Given the description of an element on the screen output the (x, y) to click on. 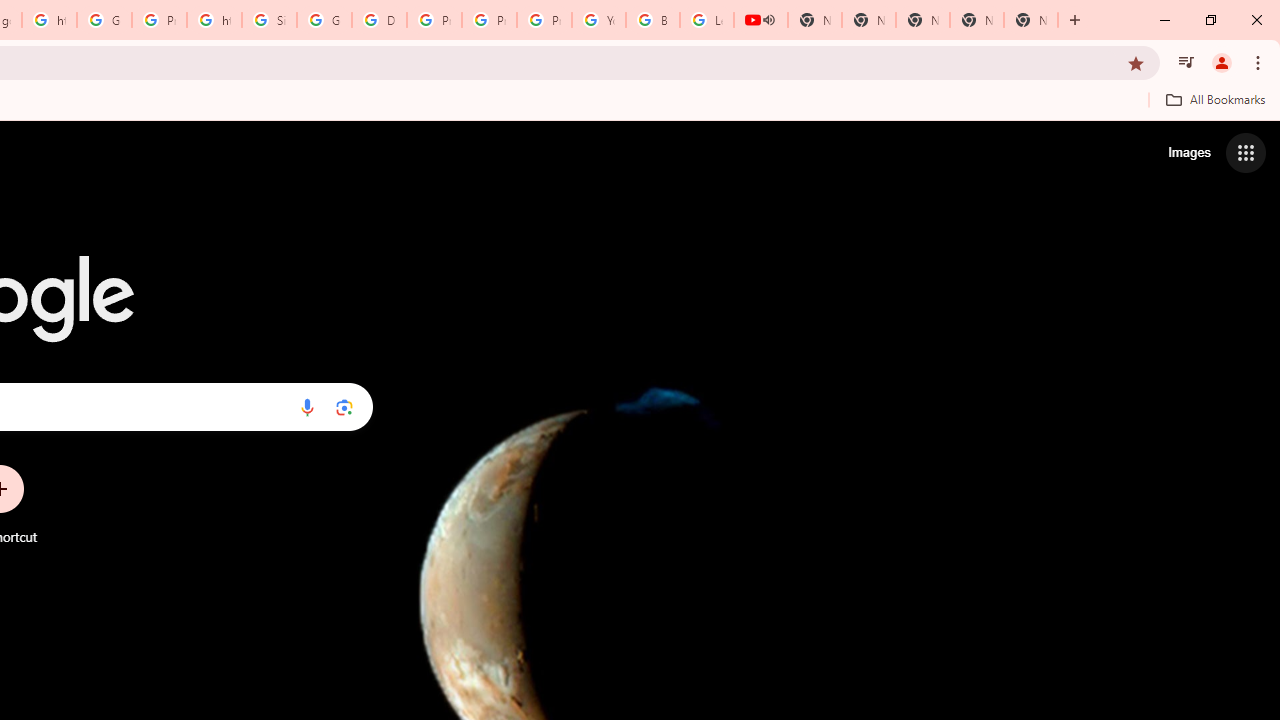
Sign in - Google Accounts (268, 20)
Privacy Help Center - Policies Help (489, 20)
All Bookmarks (1215, 99)
Control your music, videos, and more (1185, 62)
Search by voice (307, 407)
YouTube (598, 20)
Search for Images  (1188, 152)
Mute tab (768, 20)
Browse Chrome as a guest - Computer - Google Chrome Help (652, 20)
New Tab (1030, 20)
